Given the description of an element on the screen output the (x, y) to click on. 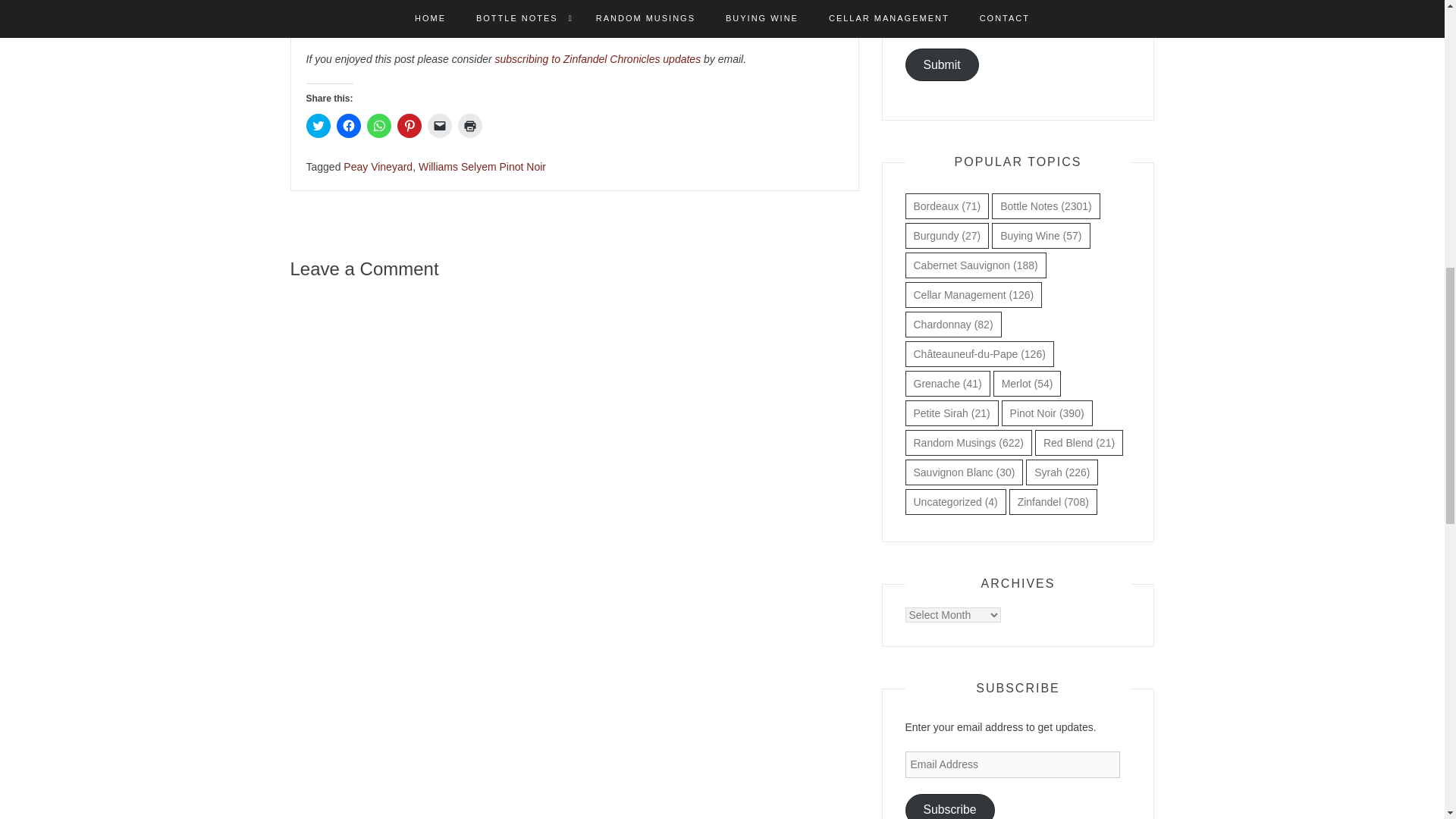
Reflections on Two Days in the Russian River Valley (616, 10)
Click to share on Pinterest (409, 125)
Click to print (469, 125)
The 2015 Zinfandel Chronicles Power Rankings (552, 18)
Peay Vineyard (377, 166)
Click to share on Facebook (348, 125)
subscribing to Zinfandel Chronicles updates (598, 59)
Williams Selyem Pinot Noir (482, 166)
Click to email a link to a friend (439, 125)
subscribe by email (598, 59)
Click to share on WhatsApp (378, 125)
Reflections on Two Days in Russian River Valley (616, 10)
The Zinfandel Chronicles Power Rankings (552, 18)
Click to share on Twitter (317, 125)
